Given the description of an element on the screen output the (x, y) to click on. 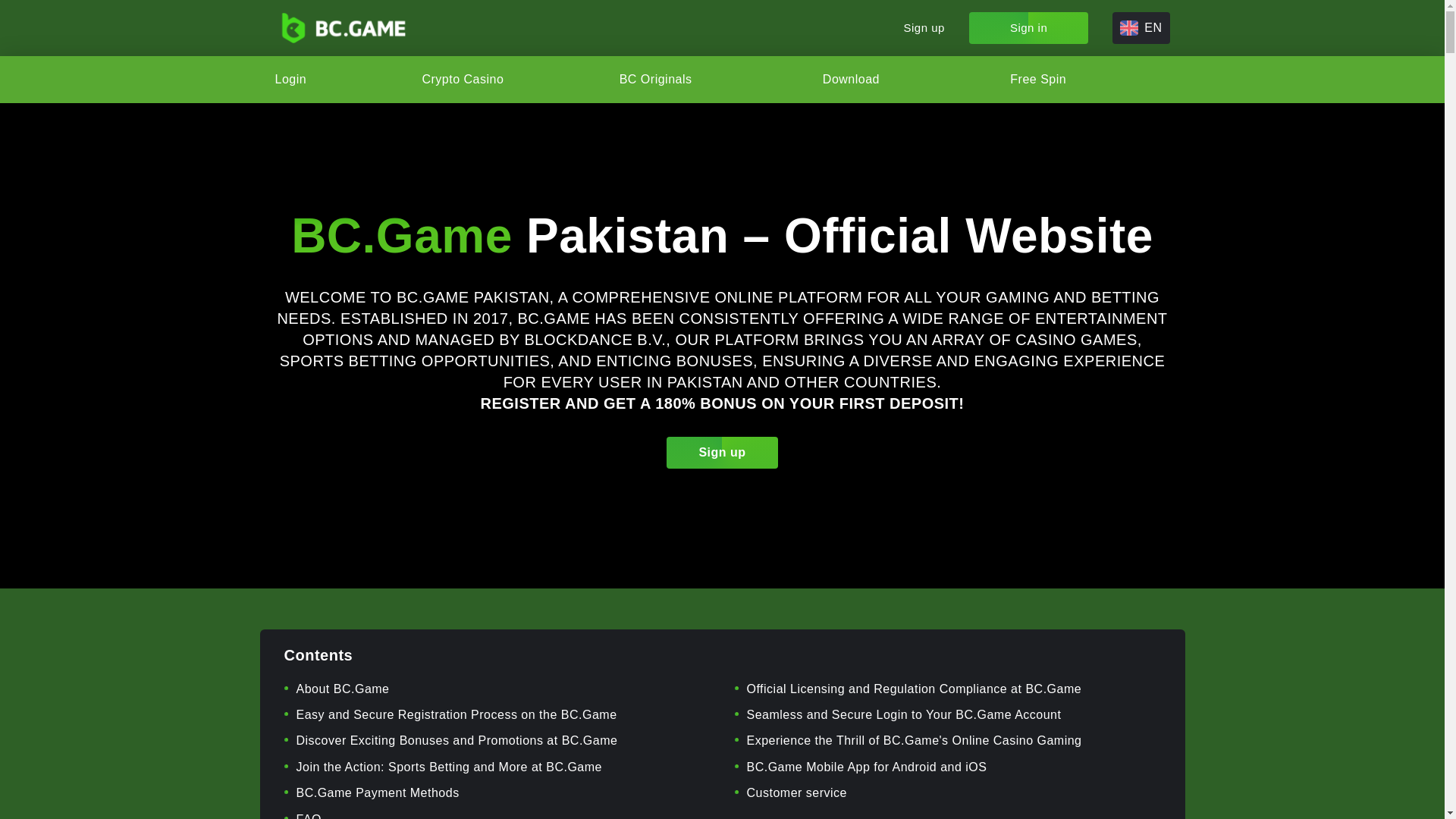
Experience the Thrill of BC.Game's Online Casino Gaming (913, 739)
BC.Game Payment Methods (376, 792)
Sign up (924, 28)
Free Spin (1037, 79)
Sign in (1028, 28)
Download (858, 79)
Crypto Casino (462, 79)
Easy and Secure Registration Process on the BC.Game (455, 714)
Discover Exciting Bonuses and Promotions at BC.Game (456, 739)
Sign up (721, 452)
